Given the description of an element on the screen output the (x, y) to click on. 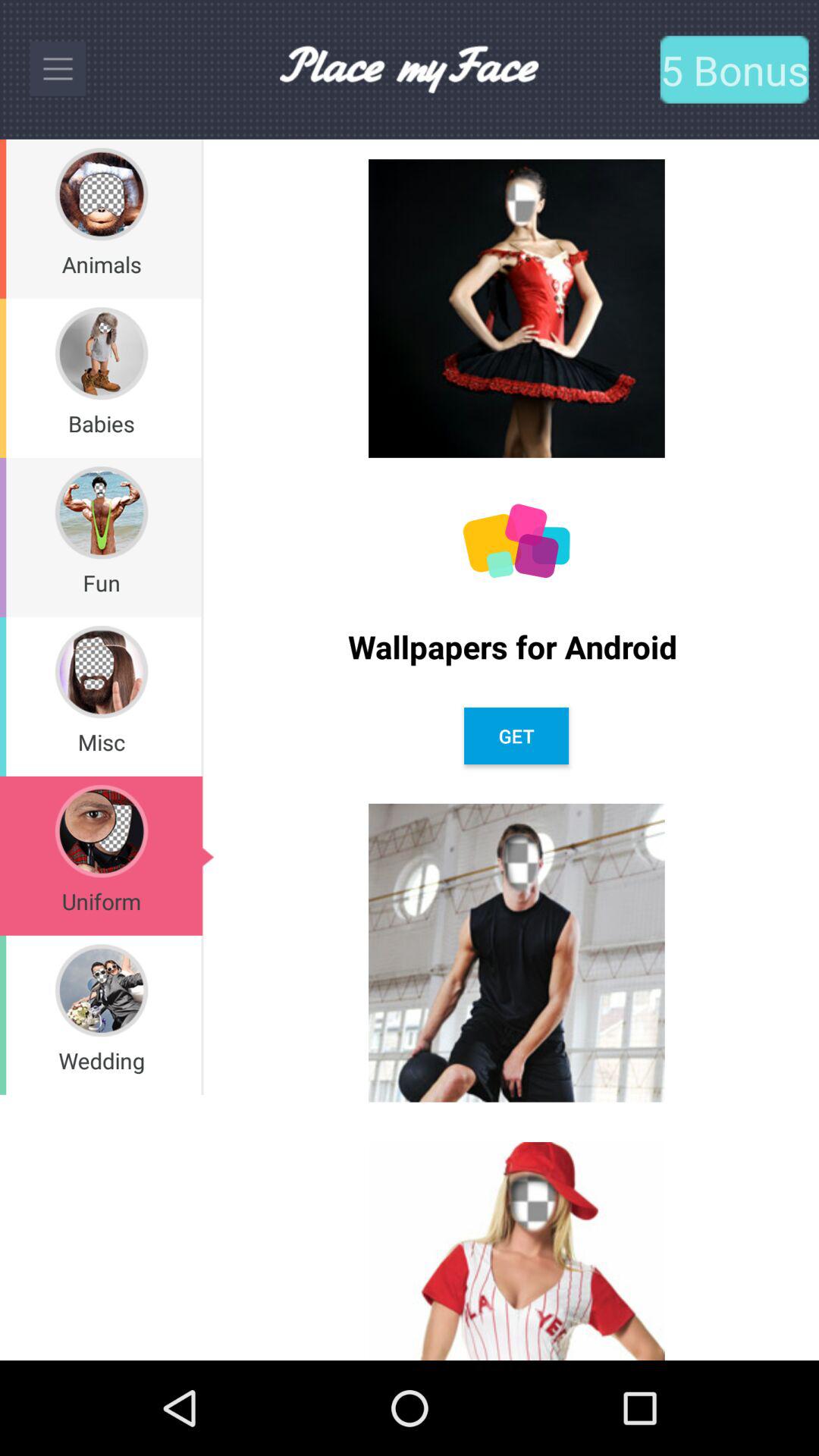
jump to wallpapers for android  app (516, 646)
